Given the description of an element on the screen output the (x, y) to click on. 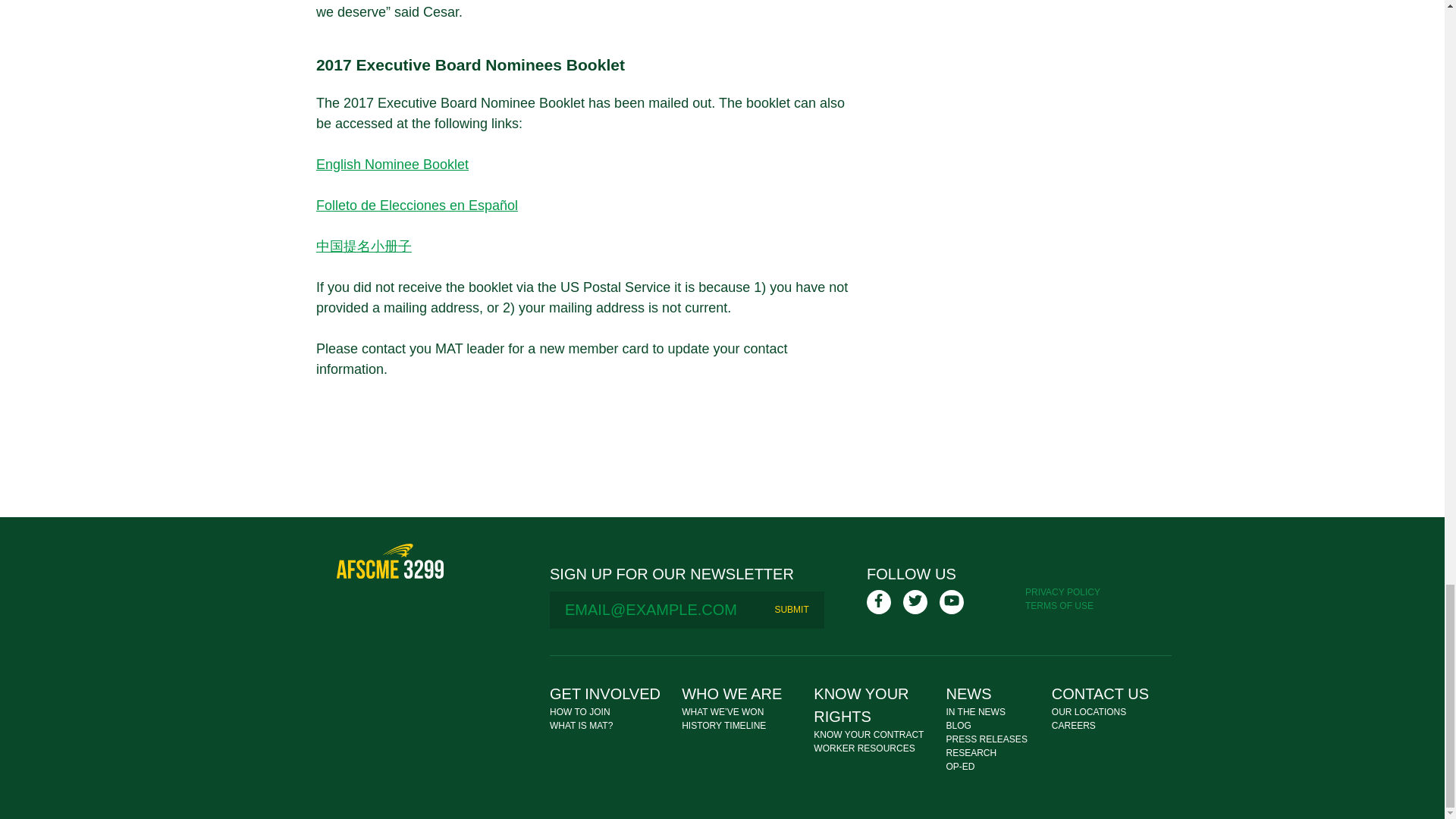
PRIVACY POLICY (1062, 592)
English Nominee Booklet (391, 164)
BLOG (958, 725)
WORKER RESOURCES (863, 747)
KNOW YOUR RIGHTS (860, 704)
GET INVOLVED (605, 693)
Submit (791, 609)
TERMS OF USE (1059, 605)
KNOW YOUR CONTRACT (868, 734)
NEWS (968, 693)
